Given the description of an element on the screen output the (x, y) to click on. 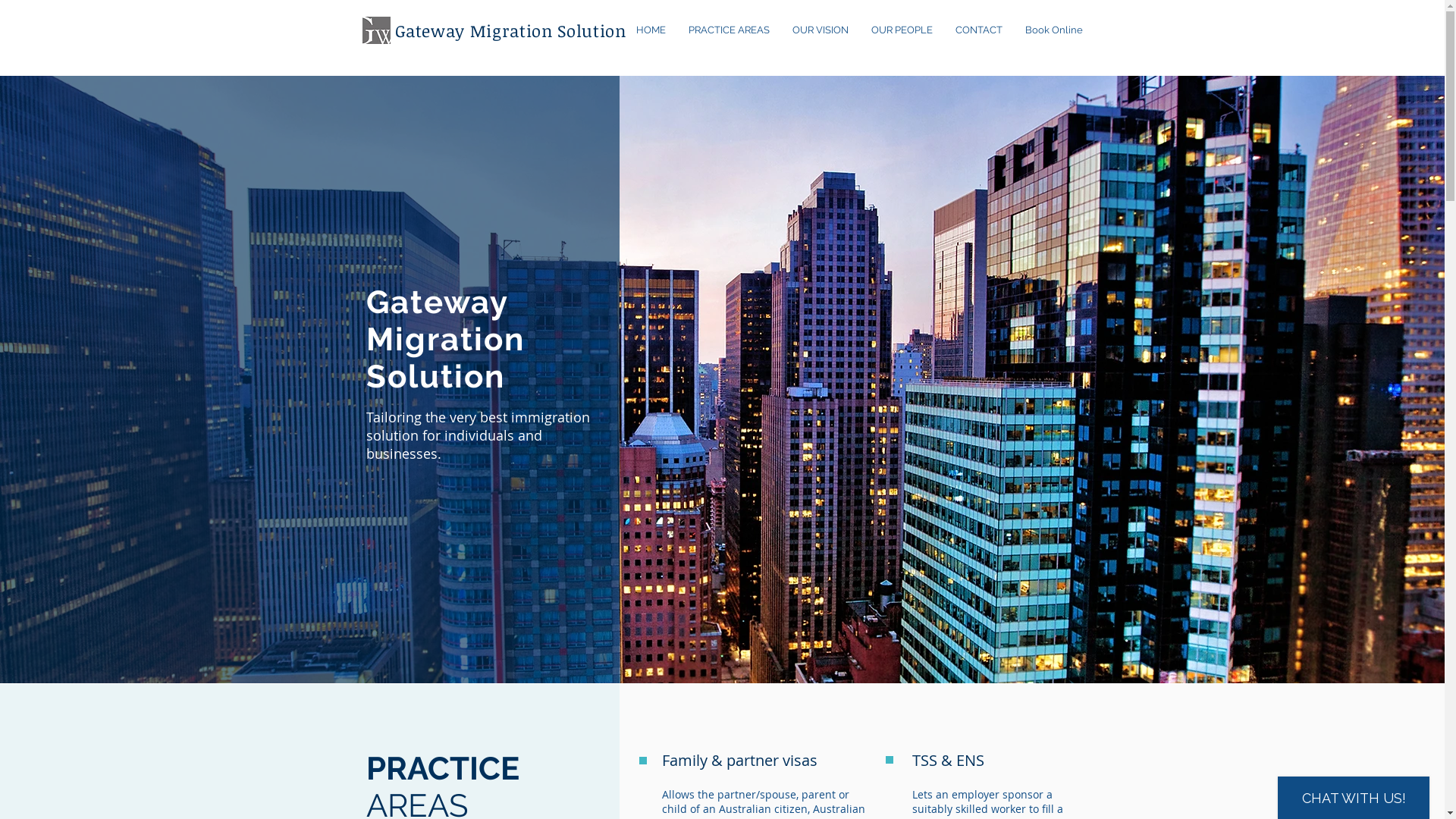
CONTACT Element type: text (978, 29)
PRACTICE AREAS Element type: text (728, 29)
Book Online Element type: text (1053, 29)
OUR VISION Element type: text (820, 29)
HOME Element type: text (650, 29)
Visitor Analytics Element type: hover (984, 210)
Gateway Migration Solution Element type: text (509, 29)
OUR PEOPLE Element type: text (901, 29)
